Given the description of an element on the screen output the (x, y) to click on. 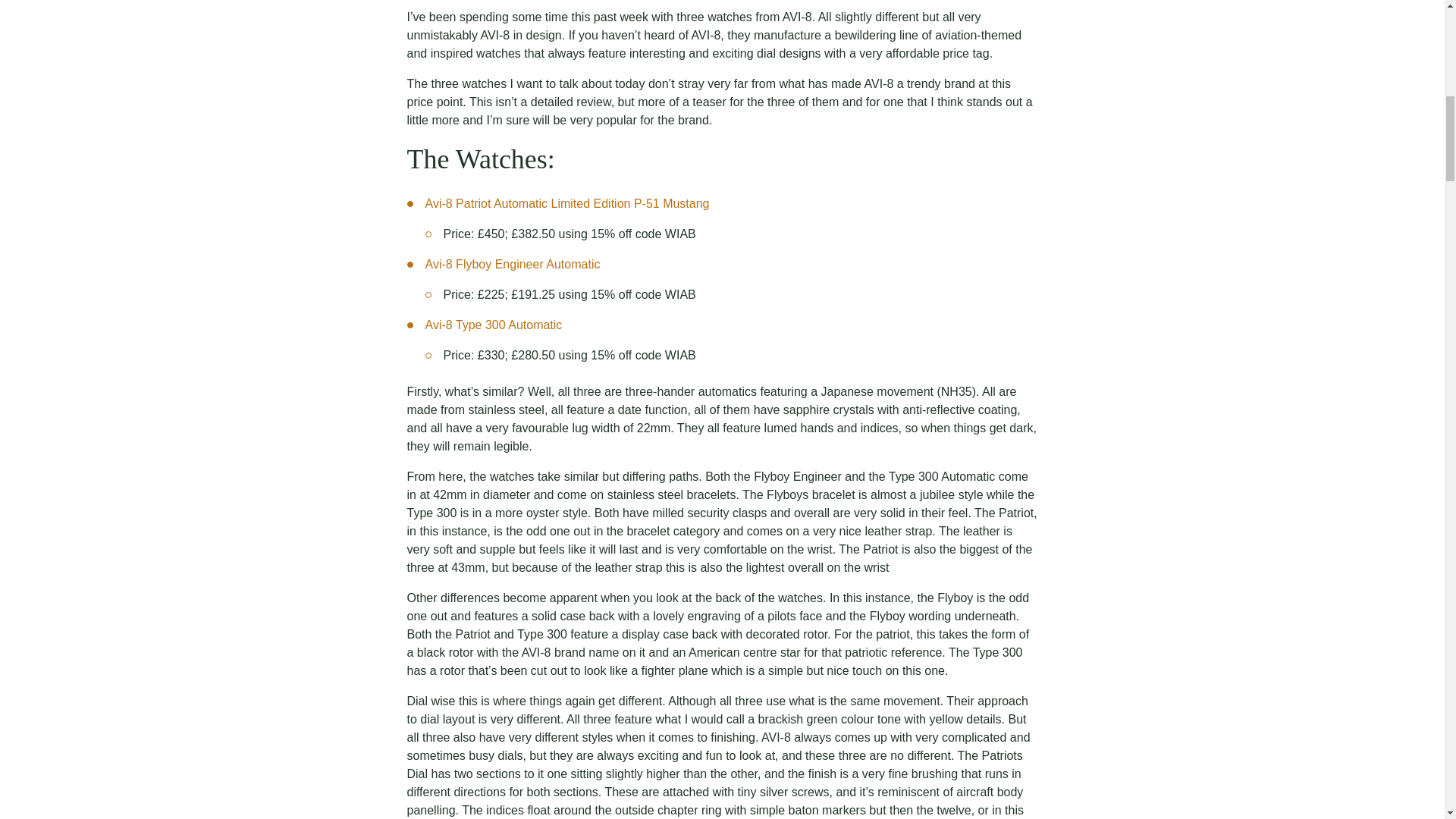
Avi-8 Type 300 Automatic (493, 324)
Avi-8 Patriot Automatic Limited Edition P-51 Mustang (567, 203)
Avi-8 Flyboy Engineer Automatic (512, 264)
